Given the description of an element on the screen output the (x, y) to click on. 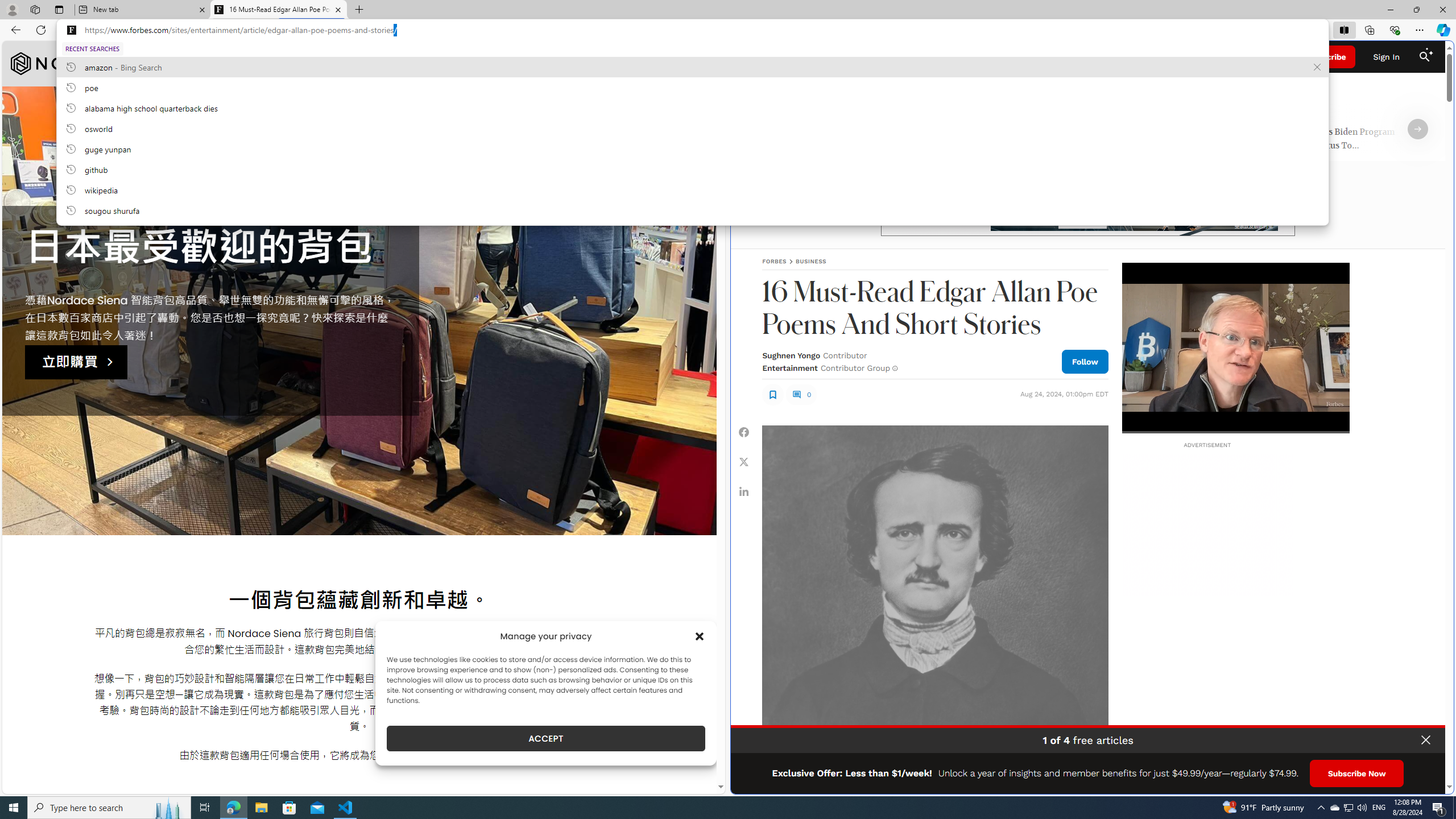
Portrait of Edgar Allan Poe. (934, 598)
Open Navigation Menu (750, 56)
Follow Author (1084, 360)
Class: search_svg__fs-icon search_svg__fs-icon--search (1424, 56)
Sign In (1386, 56)
Class: close-button unbutton (1425, 740)
16 Must-Read Edgar Allan Poe Poems And Short Stories (277, 9)
Subscribe To Newsletters (826, 56)
Seek (1235, 431)
